Given the description of an element on the screen output the (x, y) to click on. 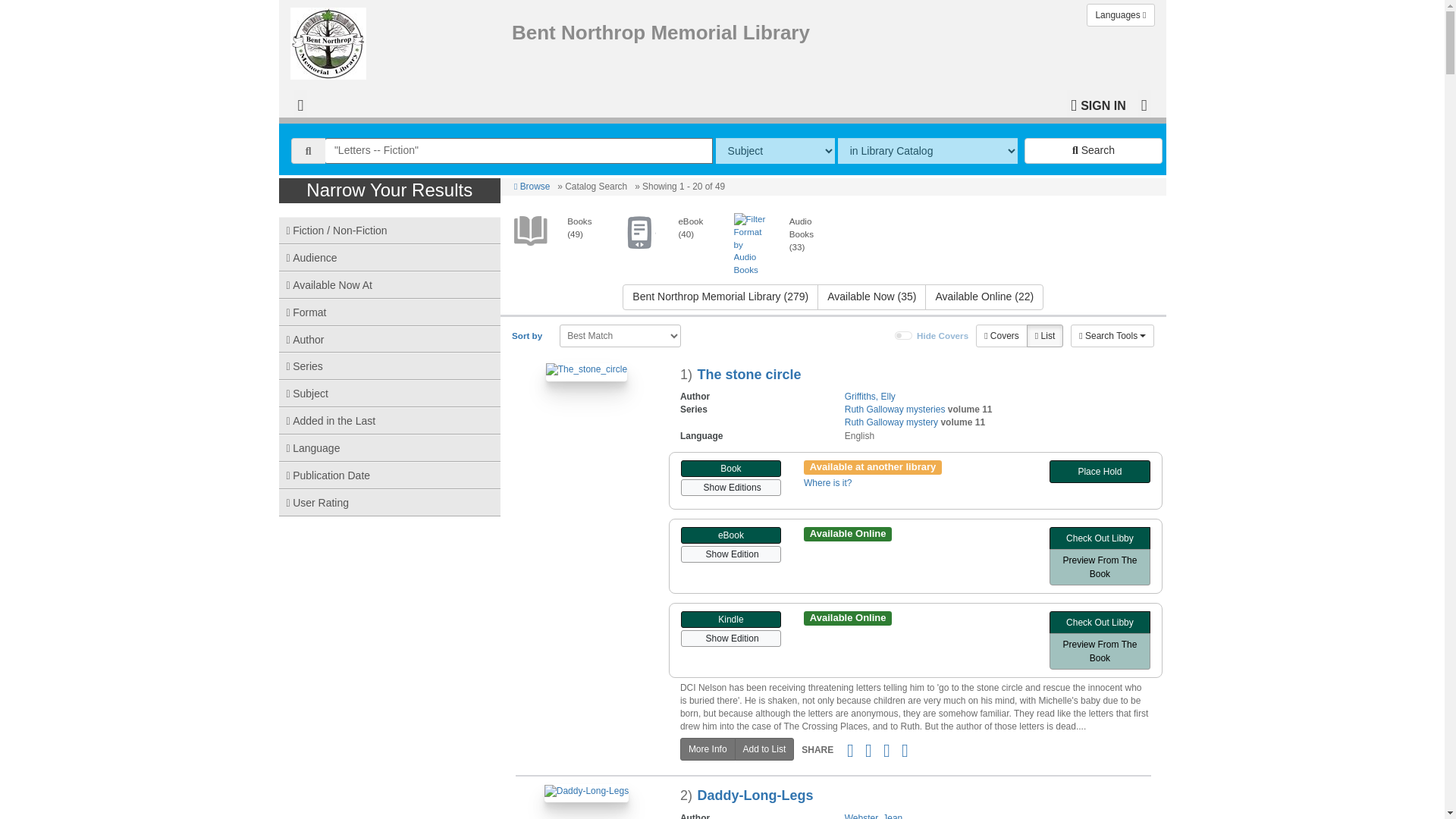
"Letters -- Fiction" (518, 150)
The method of searching. (775, 150)
on (903, 334)
 Search (1093, 150)
Library Home Page (330, 39)
Login (1098, 103)
Languages  (1120, 15)
SIGN IN (1098, 103)
Browse the catalog (531, 185)
